Given the description of an element on the screen output the (x, y) to click on. 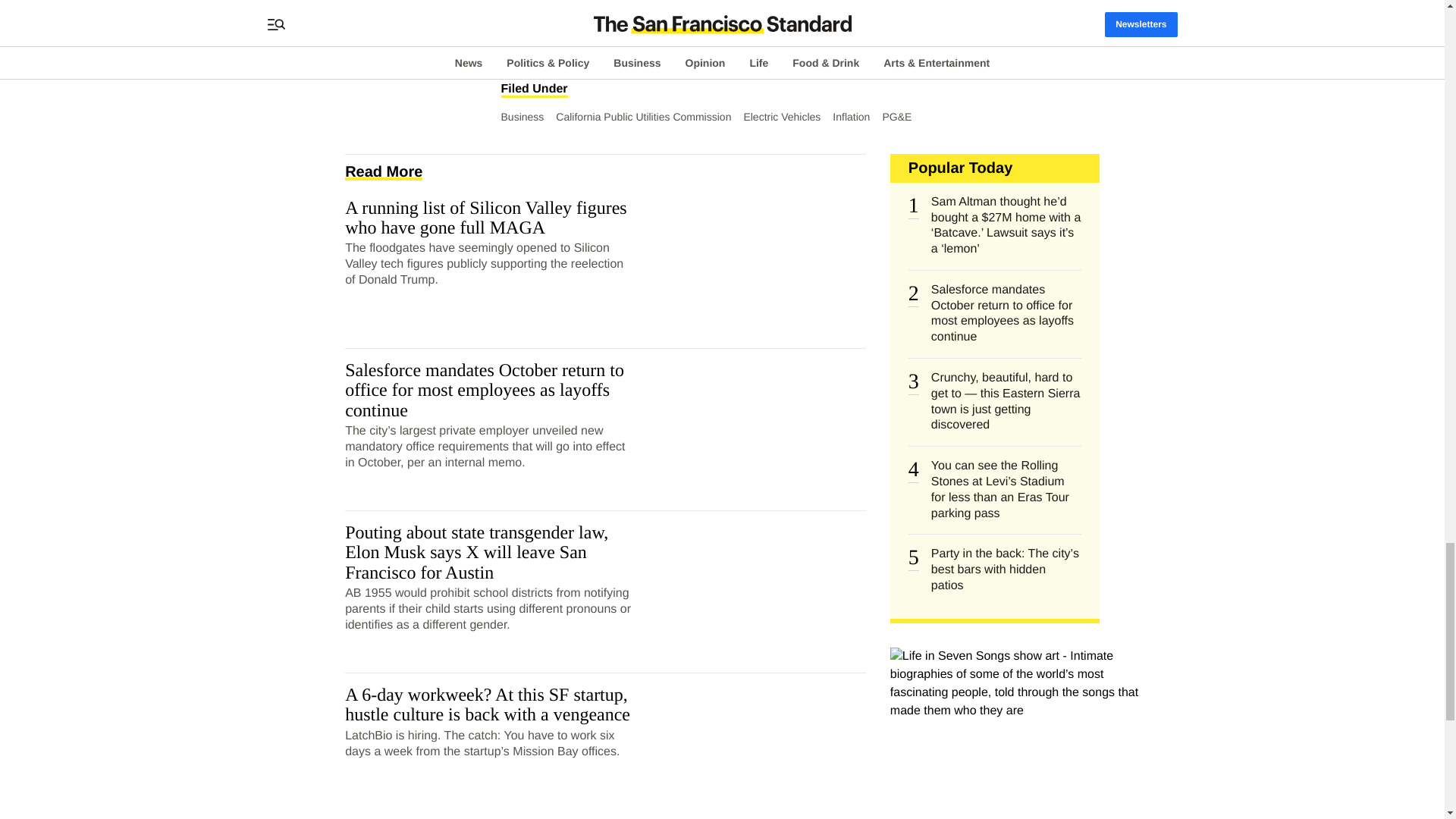
Electric Vehicles (781, 116)
California Public Utilities Commission (643, 116)
Inflation (850, 116)
Business (522, 116)
